Given the description of an element on the screen output the (x, y) to click on. 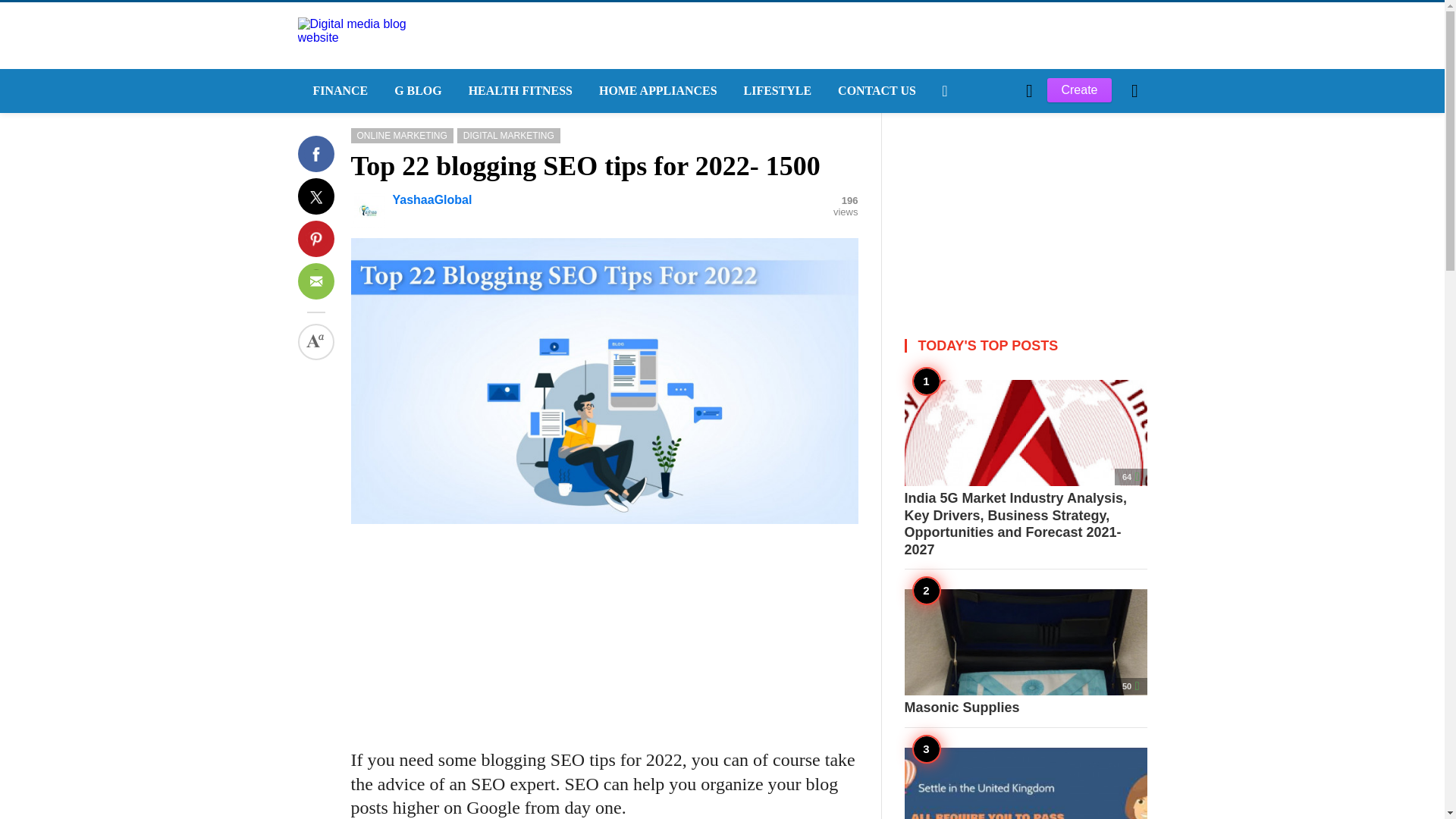
Advertisement (1025, 207)
sign up (964, 347)
Log in (962, 347)
Advertisement (603, 630)
HEALTH FITNESS (517, 90)
HOME APPLIANCES (656, 90)
How IELTS Helps In Studying Abroad - Englingua Academy (1025, 783)
FINANCE (337, 90)
Masonic Supplies (1025, 652)
